Given the description of an element on the screen output the (x, y) to click on. 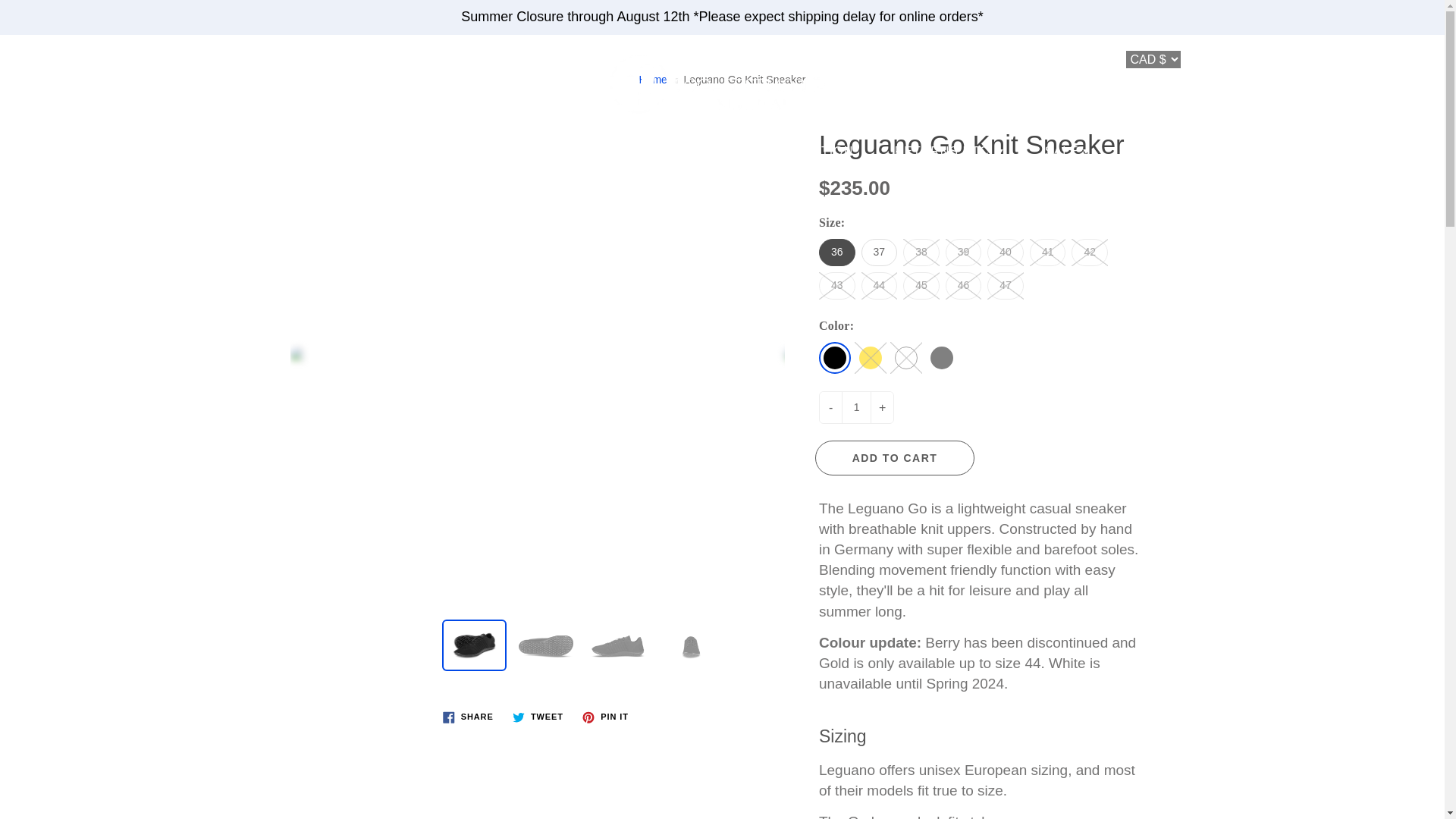
Search (28, 60)
Leguano Go Knit Sneaker (536, 354)
You have 0 items in your cart (1417, 60)
1 (855, 407)
SHOP BY BRAND (1275, 64)
LEARN (377, 151)
SHOP ONLINE (492, 151)
Home (652, 79)
My account (1379, 60)
